Given the description of an element on the screen output the (x, y) to click on. 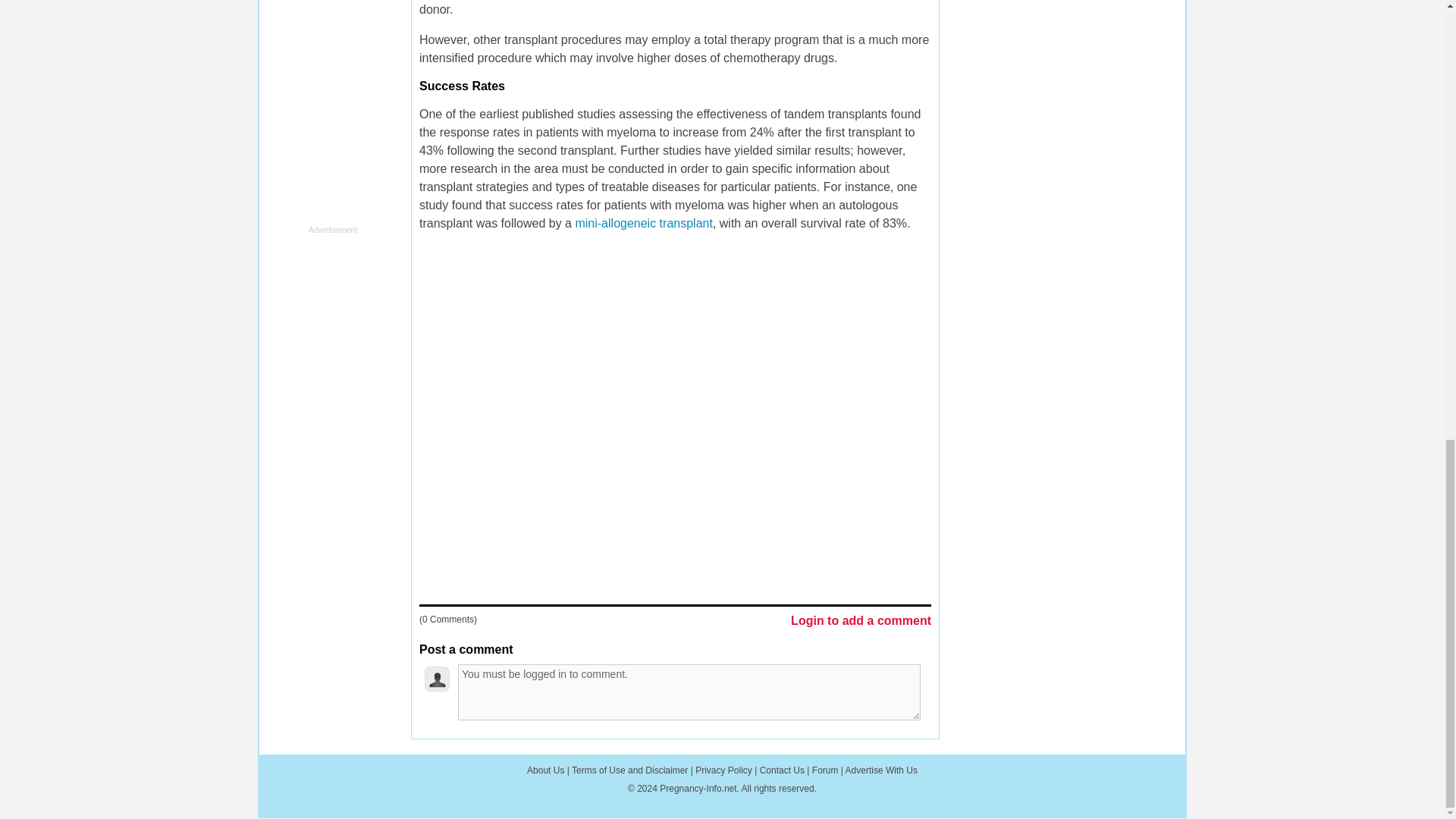
3rd party ad content (324, 105)
mini-allogeneic transplant (643, 223)
Login to add a comment (860, 621)
LOG IN (600, 769)
